Given the description of an element on the screen output the (x, y) to click on. 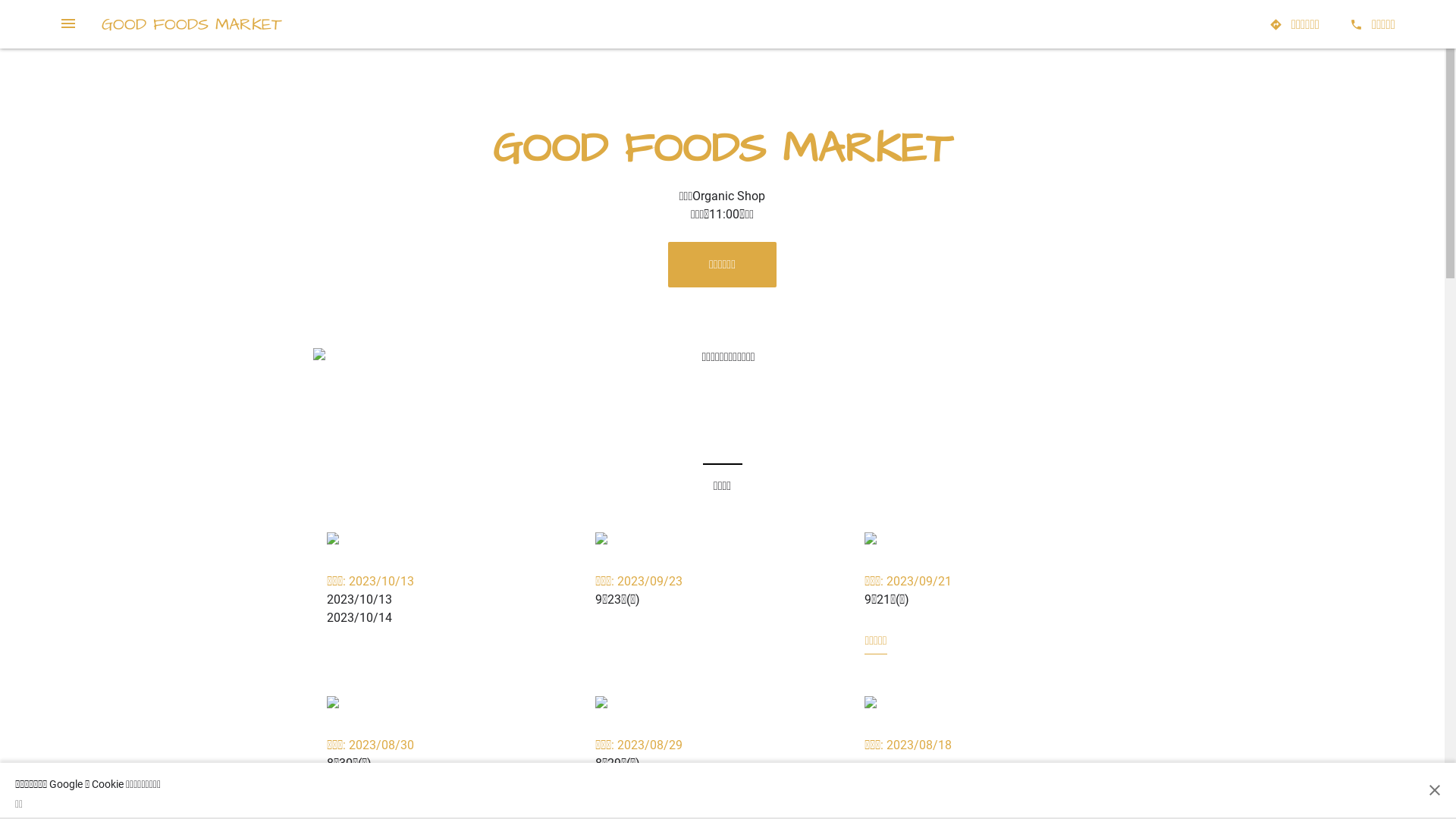
GOOD FOODS MARKET Element type: text (191, 23)
